Given the description of an element on the screen output the (x, y) to click on. 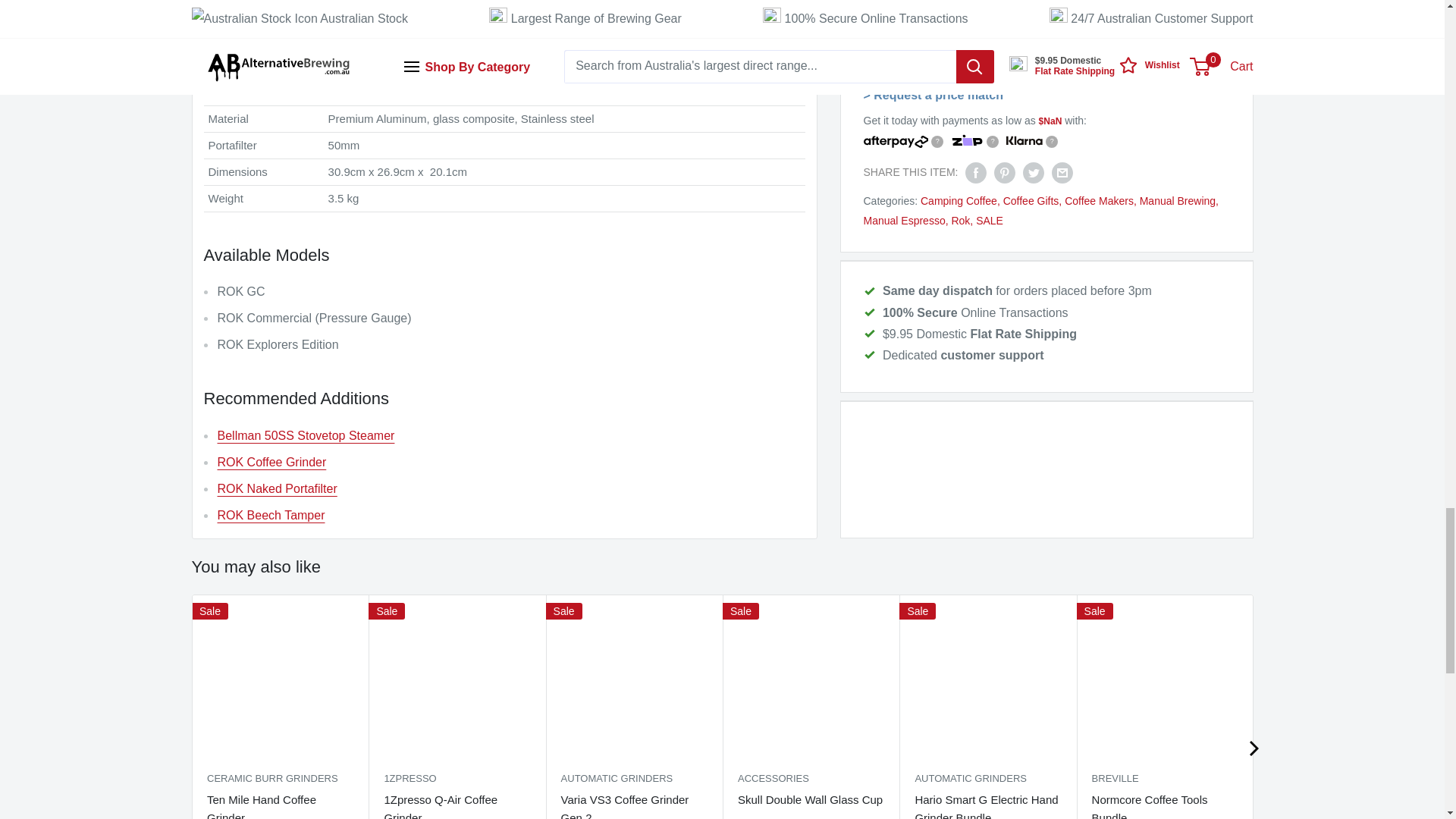
Ceramic Burr Grinders (279, 778)
Automatic Grinders (987, 778)
Breville (1163, 778)
Automatic Grinders (633, 778)
1Zpresso (456, 778)
Accessories (809, 778)
